Given the description of an element on the screen output the (x, y) to click on. 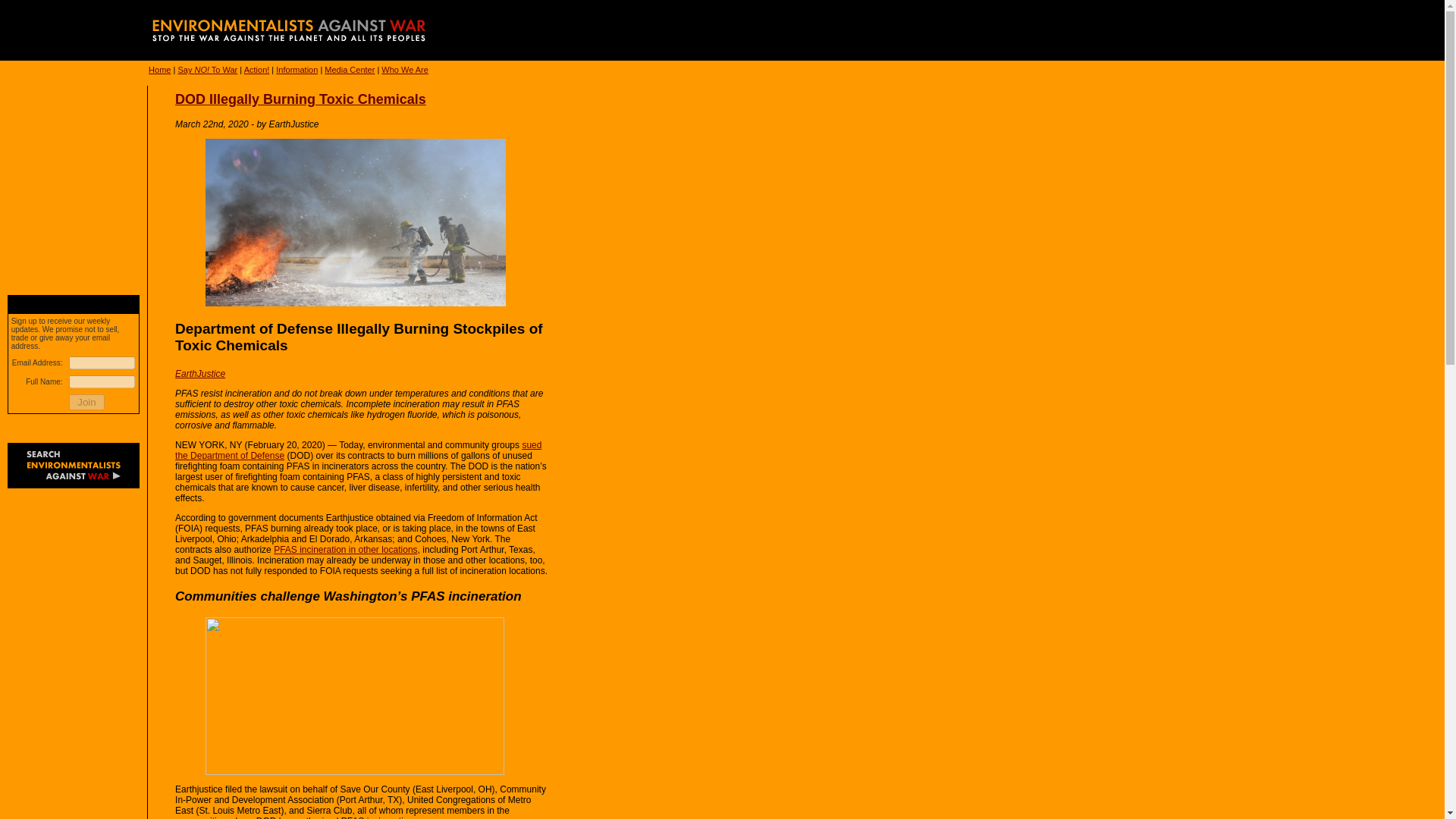
Action! (256, 69)
Say NO! To War (207, 69)
Information (296, 69)
Who We Are (404, 69)
EarthJustice (199, 373)
Permanent Link to DOD Illegally Burning Toxic Chemicals (300, 99)
Home (159, 69)
sued the Department of Defense (357, 450)
Media Center (349, 69)
PFAS incineration in other locations (344, 549)
 Join  (86, 401)
 Join  (86, 401)
DOD Illegally Burning Toxic Chemicals (300, 99)
